Given the description of an element on the screen output the (x, y) to click on. 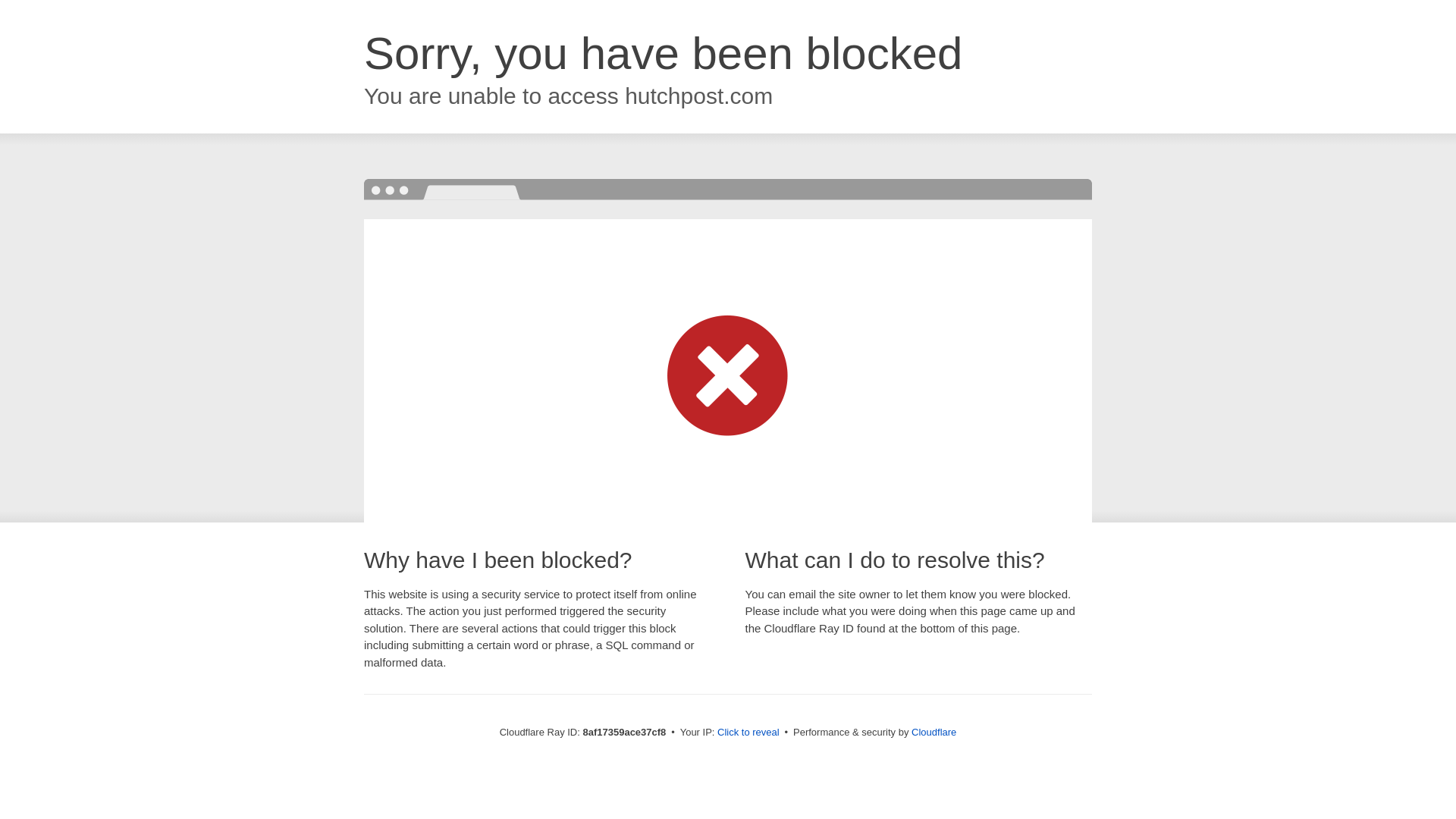
Click to reveal (747, 732)
Cloudflare (933, 731)
